Given the description of an element on the screen output the (x, y) to click on. 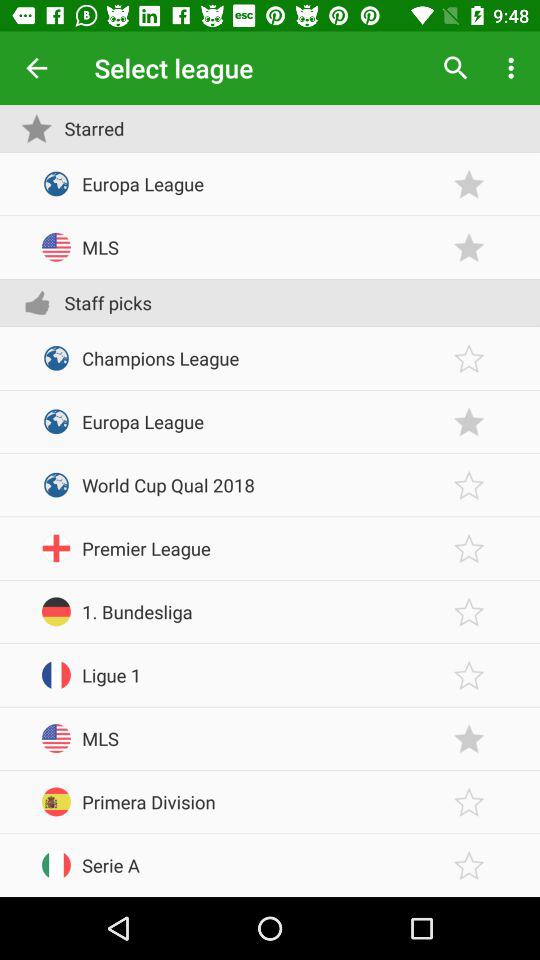
turn off the item to the left of the select league (36, 68)
